Given the description of an element on the screen output the (x, y) to click on. 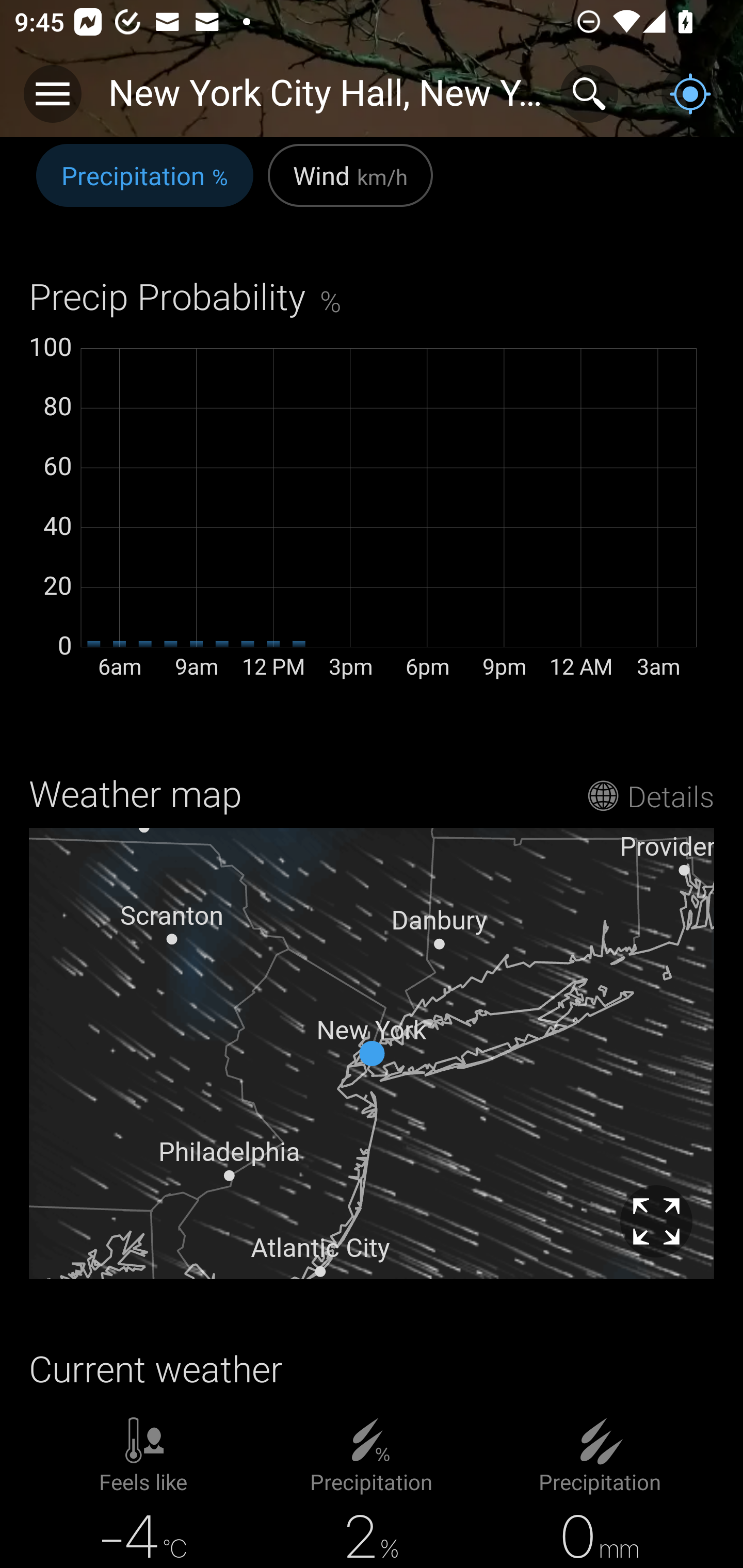
Precipitation % (144, 185)
Wind km/h (349, 185)
